Given the description of an element on the screen output the (x, y) to click on. 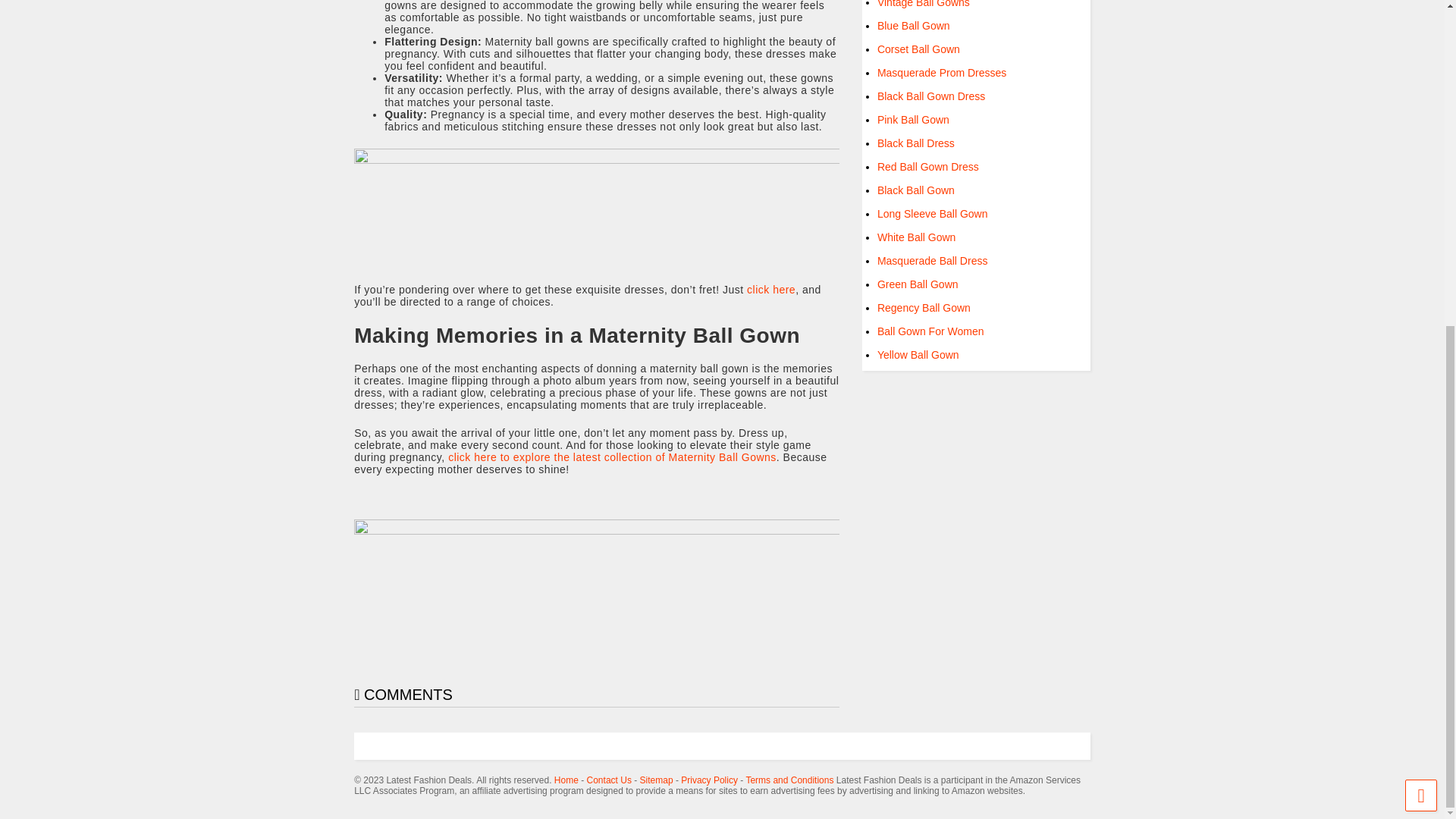
Black Ball Gown Dress (931, 96)
Pink Ball Gown (913, 119)
Red Ball Gown Dress (927, 166)
Masquerade Prom Dresses (941, 72)
Corset Ball Gown (918, 49)
click here (770, 289)
Black Ball Dress (916, 143)
Long Sleeve Ball Gown (932, 214)
Vintage Ball Gowns (923, 4)
